Given the description of an element on the screen output the (x, y) to click on. 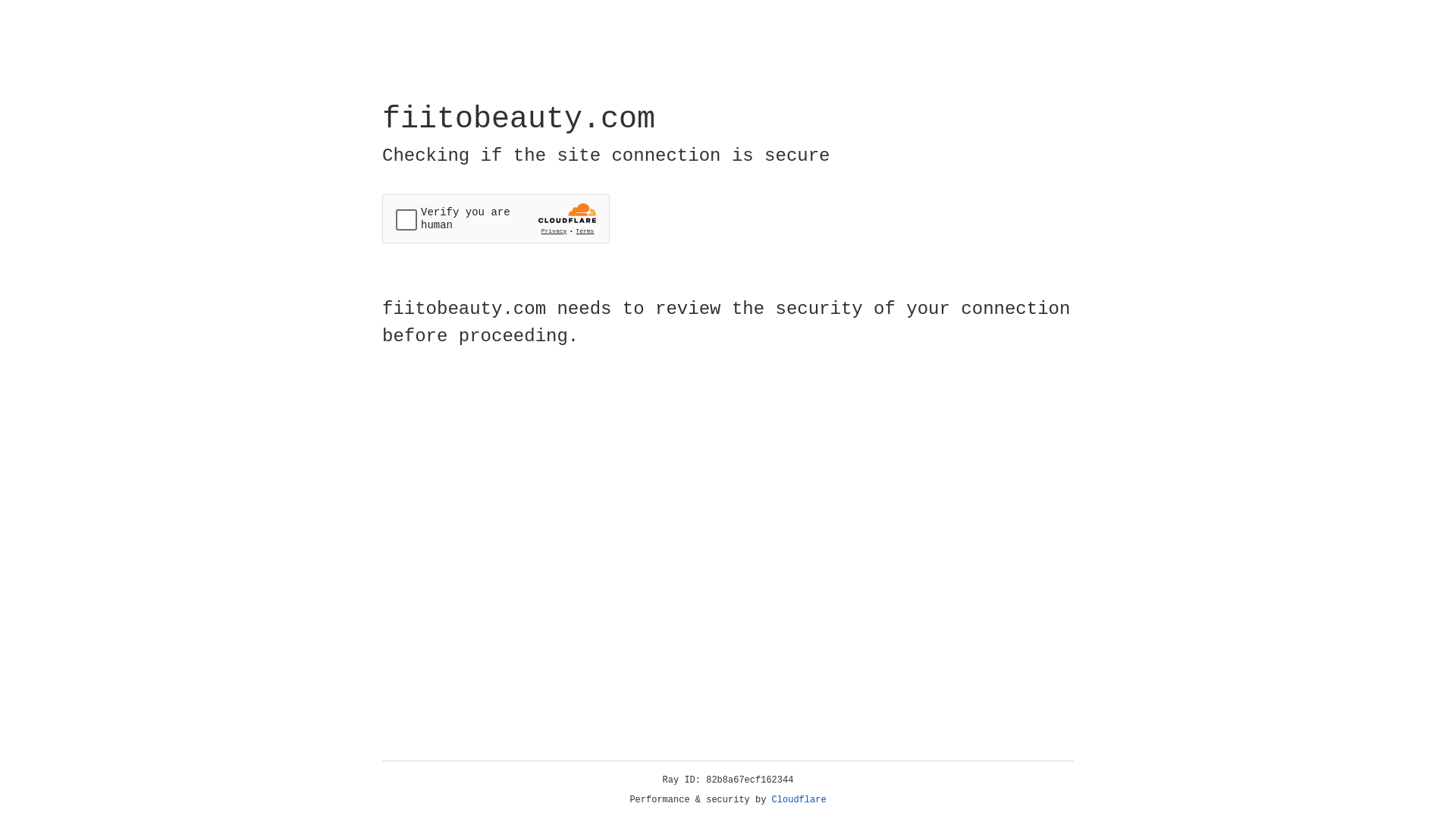
Cloudflare Element type: text (798, 799)
Widget containing a Cloudflare security challenge Element type: hover (495, 218)
